Given the description of an element on the screen output the (x, y) to click on. 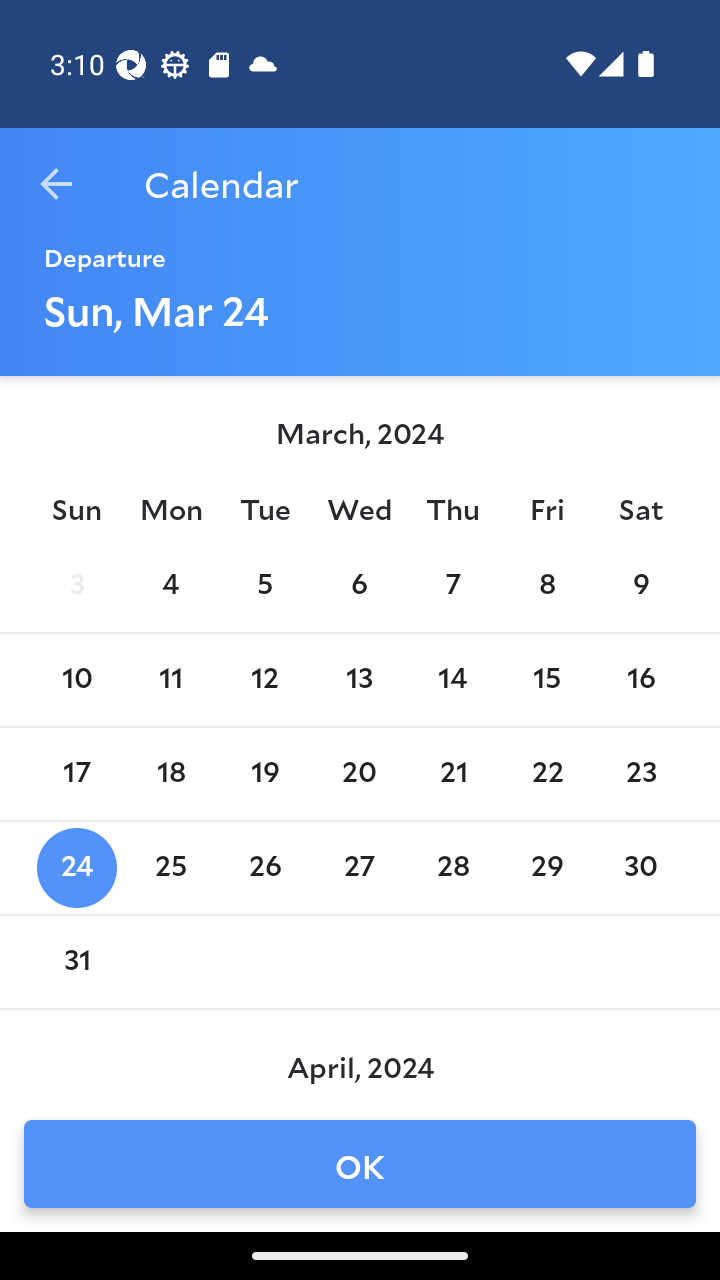
Navigate up (56, 184)
3 (76, 585)
4 (170, 585)
5 (264, 585)
6 (358, 585)
7 (453, 585)
8 (546, 585)
9 (641, 585)
10 (76, 679)
11 (170, 679)
12 (264, 679)
13 (358, 679)
14 (453, 679)
15 (546, 679)
16 (641, 679)
17 (76, 773)
18 (170, 773)
19 (264, 773)
20 (358, 773)
21 (453, 773)
22 (546, 773)
23 (641, 773)
24 (76, 867)
25 (170, 867)
26 (264, 867)
27 (358, 867)
28 (453, 867)
29 (546, 867)
30 (641, 867)
31 (76, 961)
OK (359, 1164)
